Given the description of an element on the screen output the (x, y) to click on. 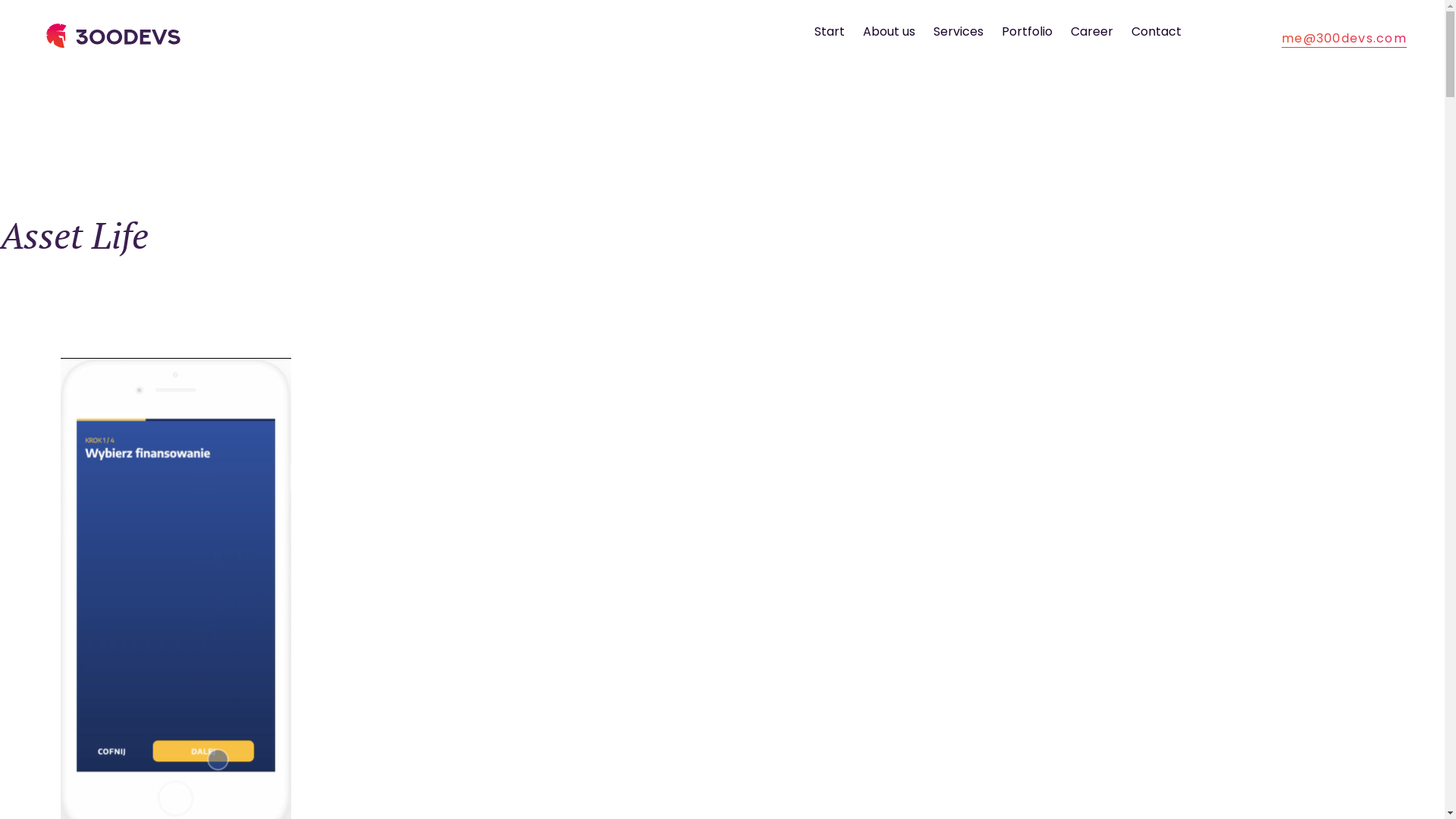
Career Element type: text (1091, 31)
Start Element type: text (829, 31)
me@300devs.com Element type: text (1343, 37)
About us Element type: text (888, 31)
Portfolio Element type: text (1026, 31)
Contact Element type: text (1156, 31)
Services Element type: text (958, 31)
